Given the description of an element on the screen output the (x, y) to click on. 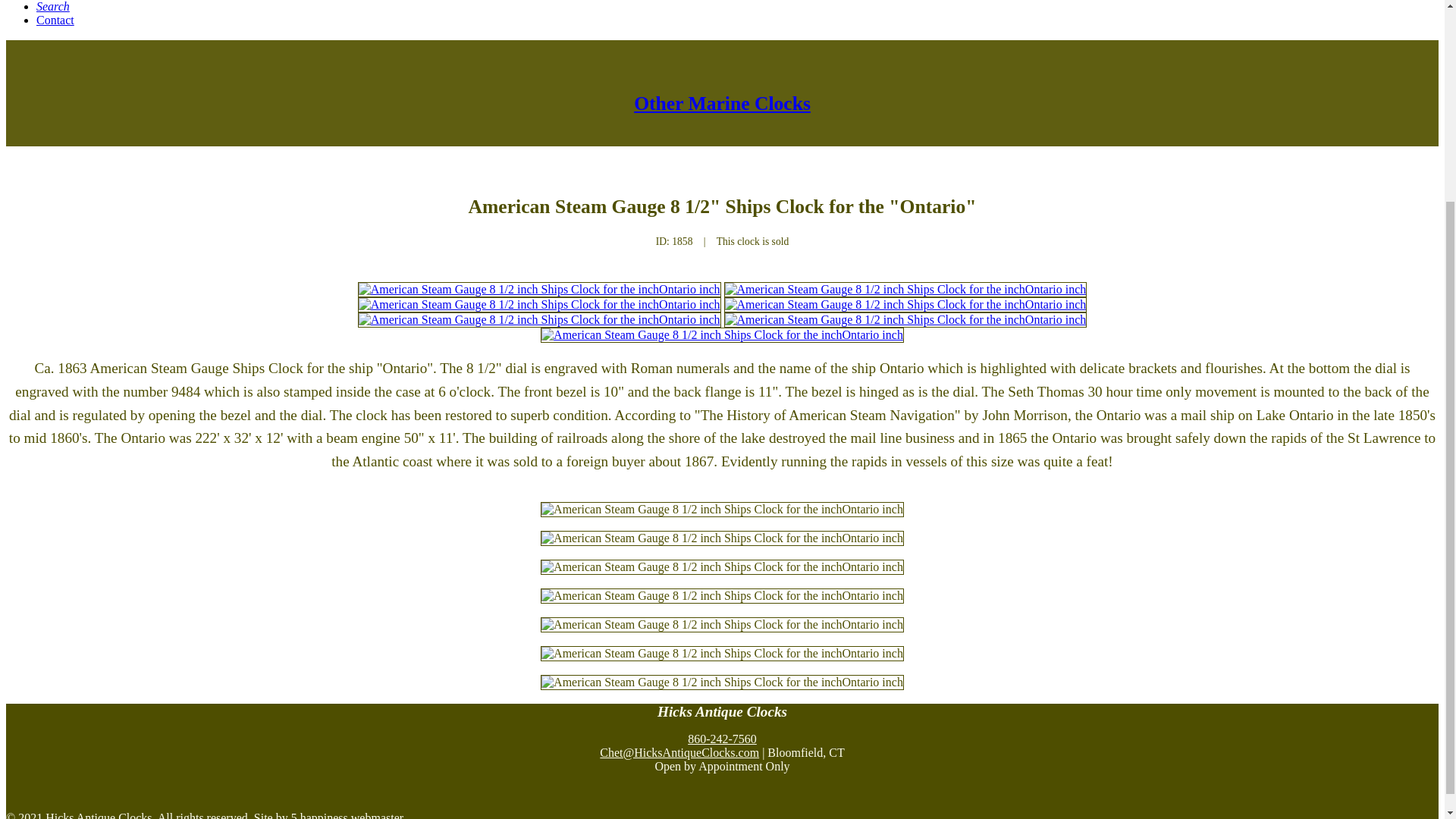
Contact (55, 19)
860-242-7560 (722, 738)
Other Marine Clocks (721, 103)
Search (52, 6)
